Given the description of an element on the screen output the (x, y) to click on. 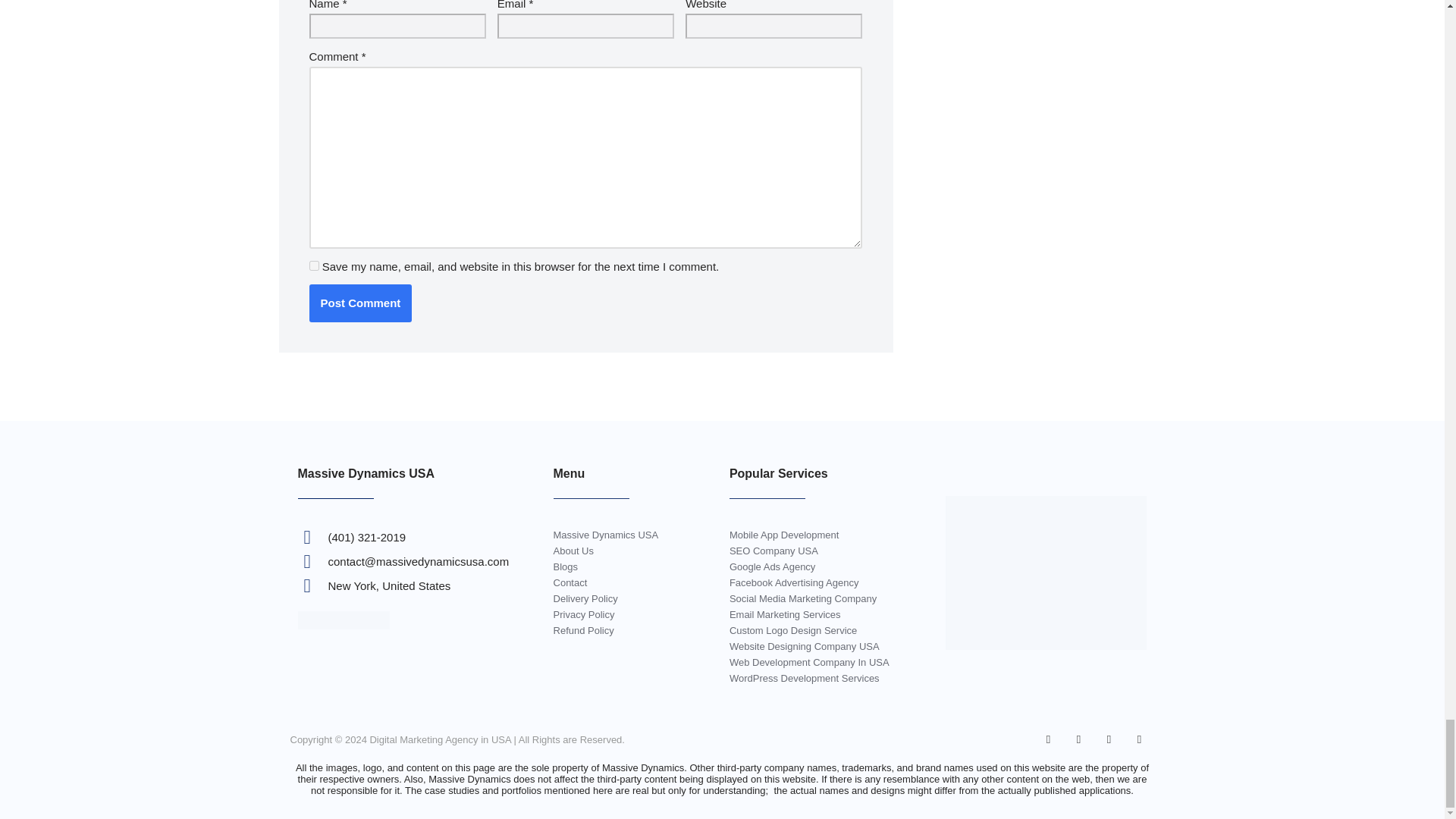
Post Comment (360, 303)
DMCA.com Protection Status (342, 625)
yes (313, 266)
